Given the description of an element on the screen output the (x, y) to click on. 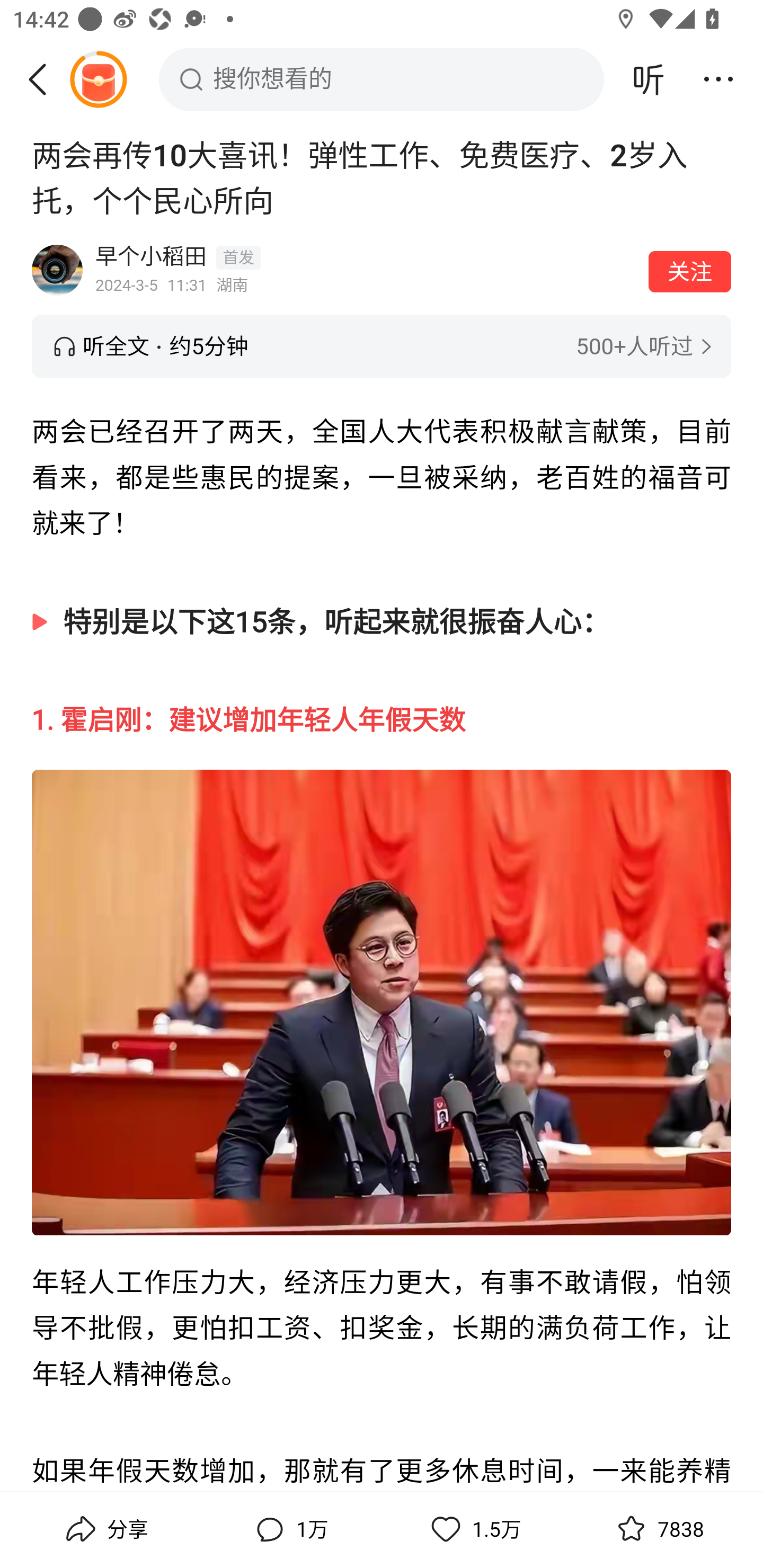
返回 (44, 78)
听头条 (648, 78)
更多操作 (718, 78)
搜你想看的 搜索框，搜你想看的 (381, 79)
阅读赚金币 (98, 79)
作者：早个小稻田，2024-3-5 11:31发布，湖南，首发 (365, 270)
关注作者 (689, 270)
听全文 约5分钟 500+人听过 (381, 346)
图片，点击识别内容 (381, 1003)
分享 (104, 1529)
评论,1万 1万 (288, 1529)
收藏,7838 7838 (658, 1529)
